Given the description of an element on the screen output the (x, y) to click on. 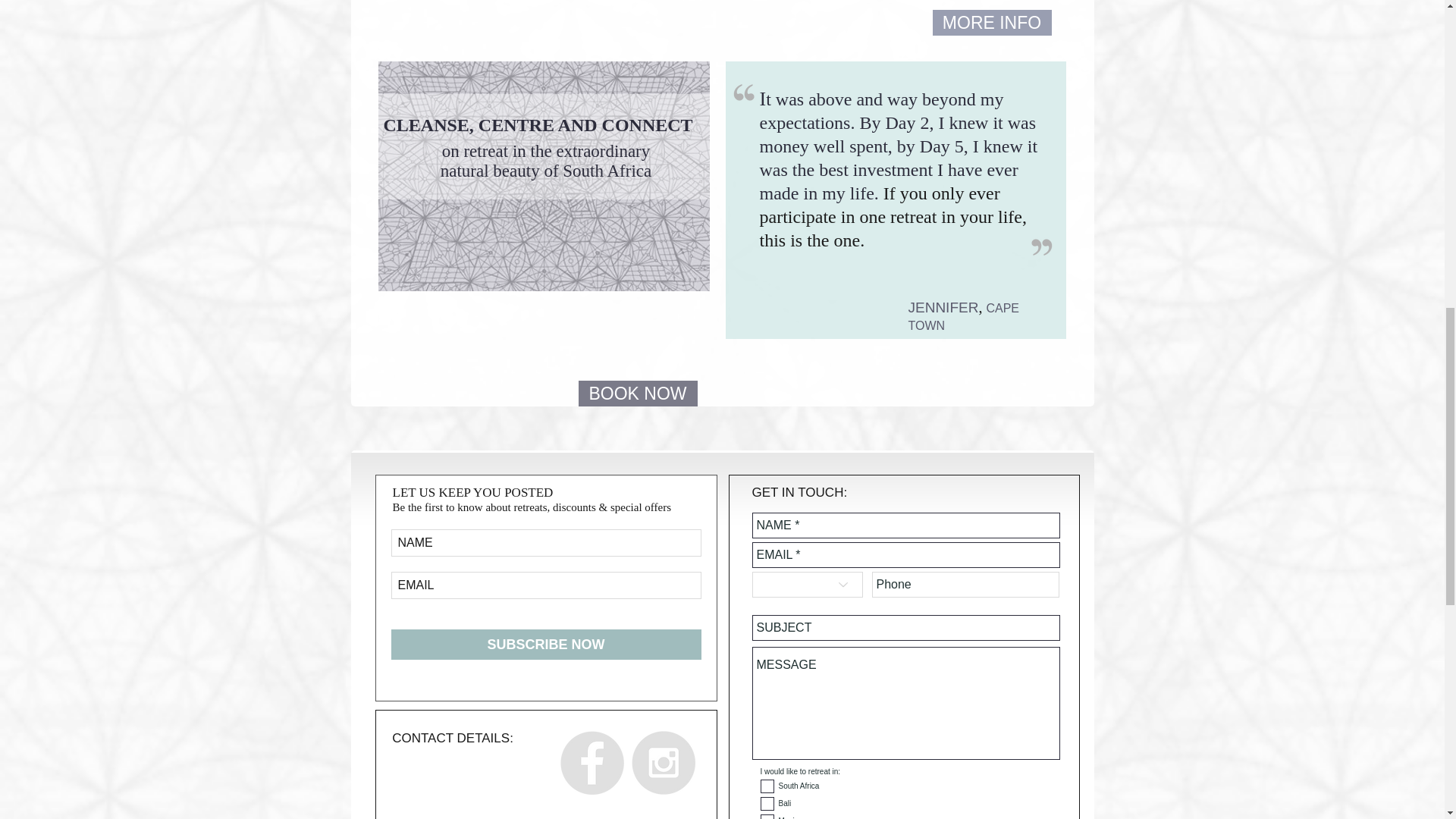
png.png (1041, 246)
SUBSCRIBE NOW (546, 644)
png.png (743, 93)
MORE INFO (992, 22)
BOOK NOW (637, 393)
